Given the description of an element on the screen output the (x, y) to click on. 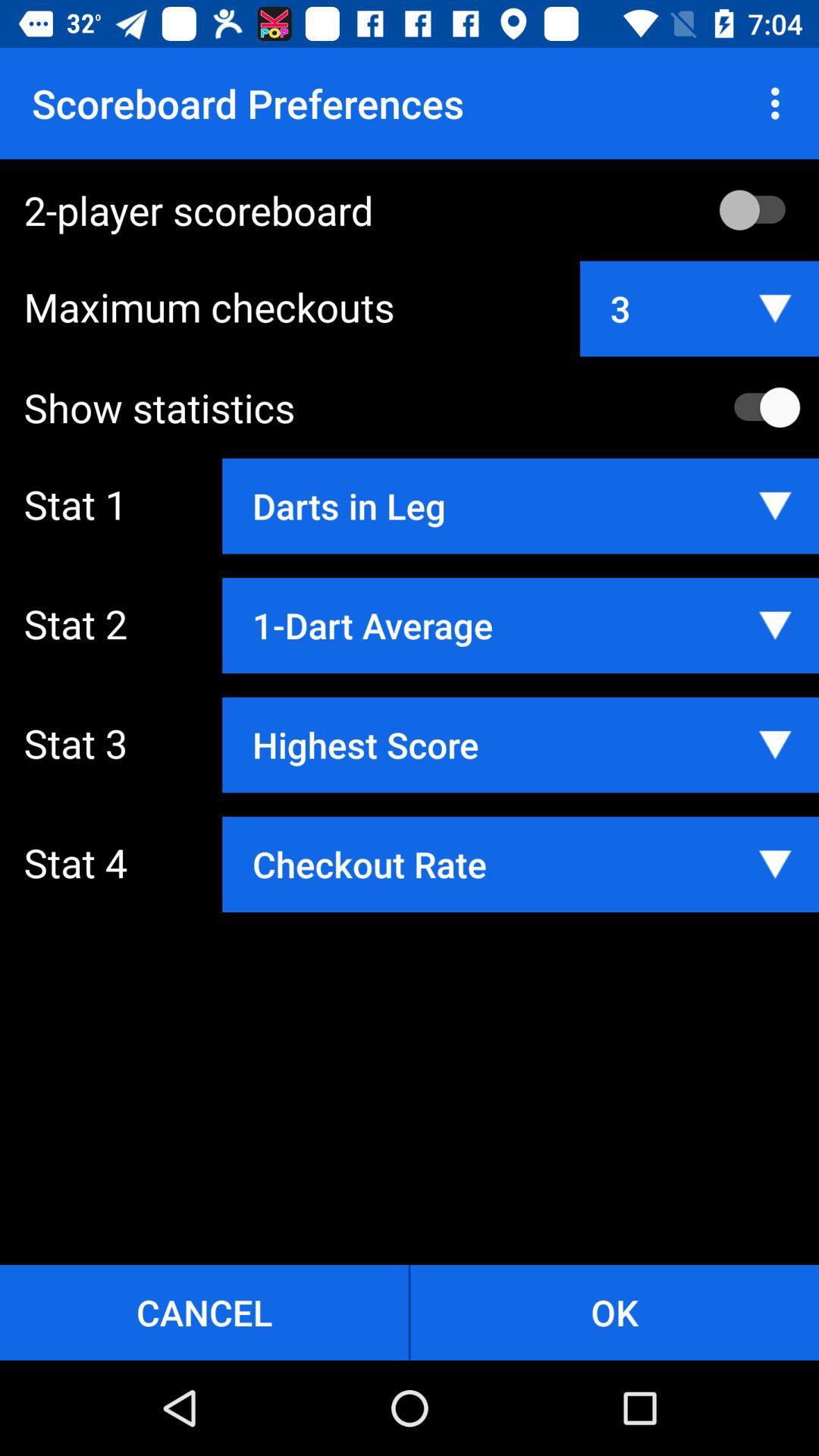
tap the item at the bottom left corner (204, 1312)
